Given the description of an element on the screen output the (x, y) to click on. 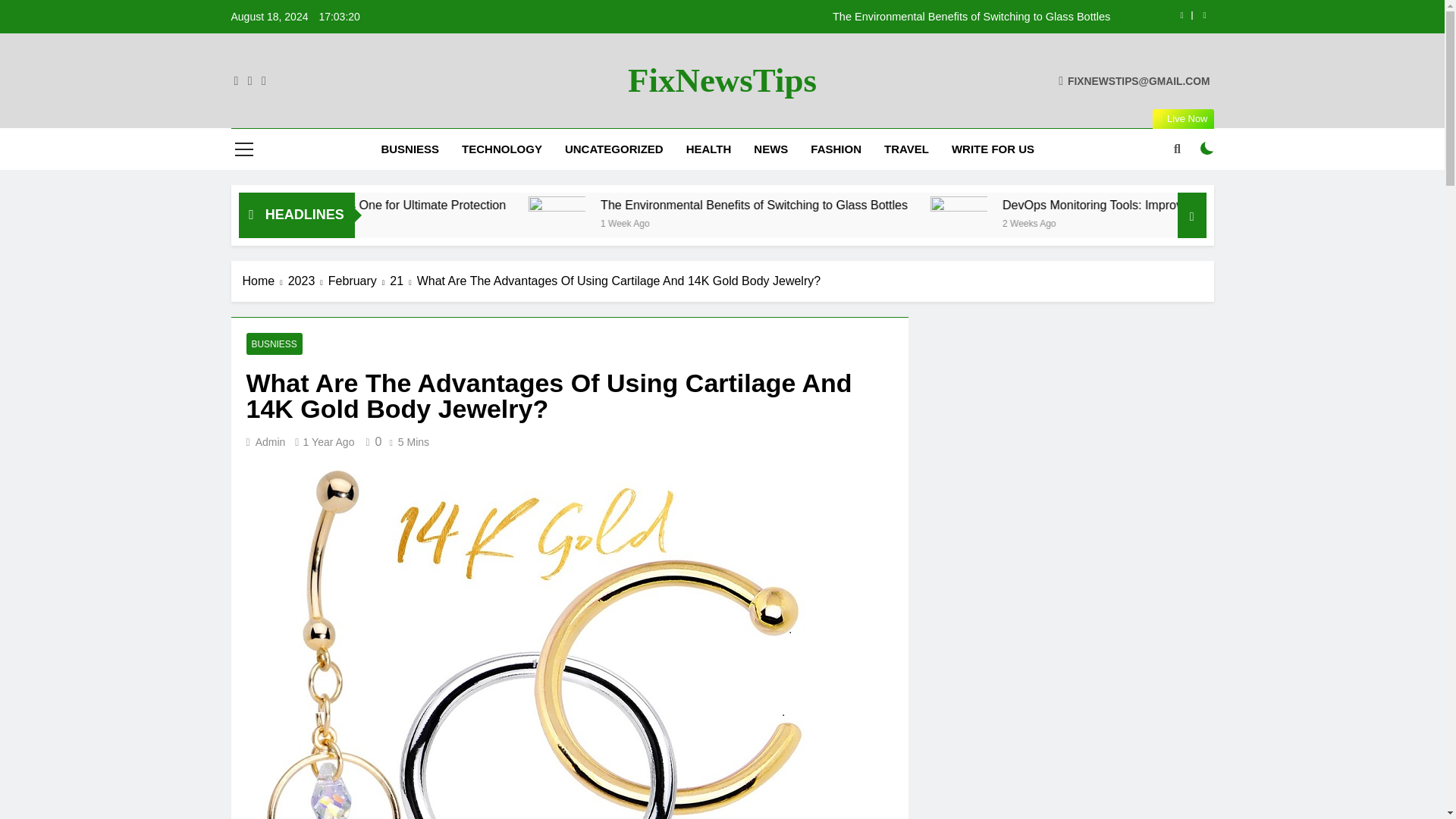
The Environmental Benefits of Switching to Glass Bottles (754, 224)
TRAVEL (906, 148)
NEWS (770, 148)
The Environmental Benefits of Switching to Glass Bottles (817, 16)
TECHNOLOGY (501, 148)
FixNewsTips (721, 80)
The Environmental Benefits of Switching to Glass Bottles (945, 205)
The Environmental Benefits of Switching to Glass Bottles (977, 205)
BUSNIESS (409, 148)
